Given the description of an element on the screen output the (x, y) to click on. 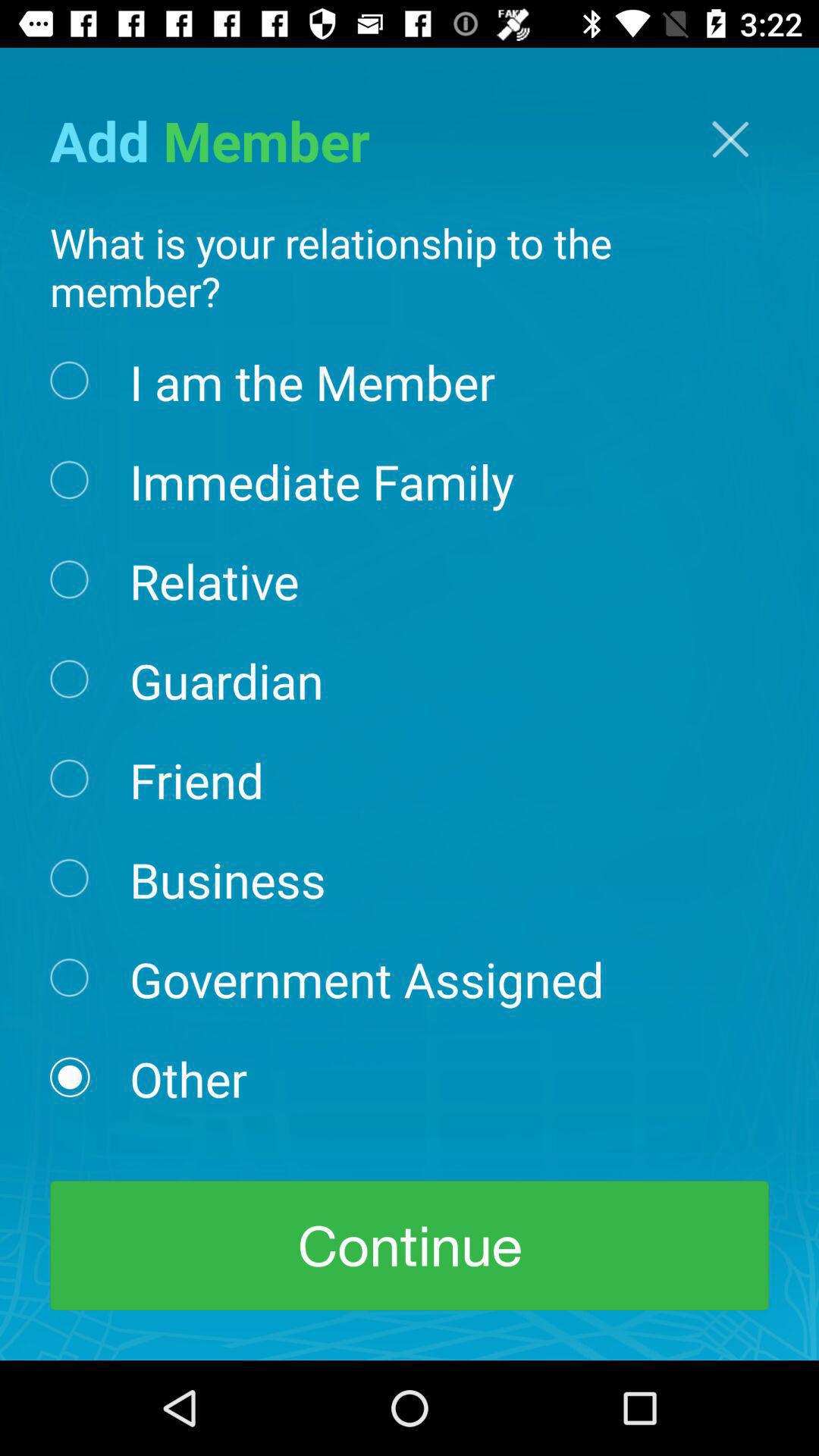
select item below relative (226, 679)
